Given the description of an element on the screen output the (x, y) to click on. 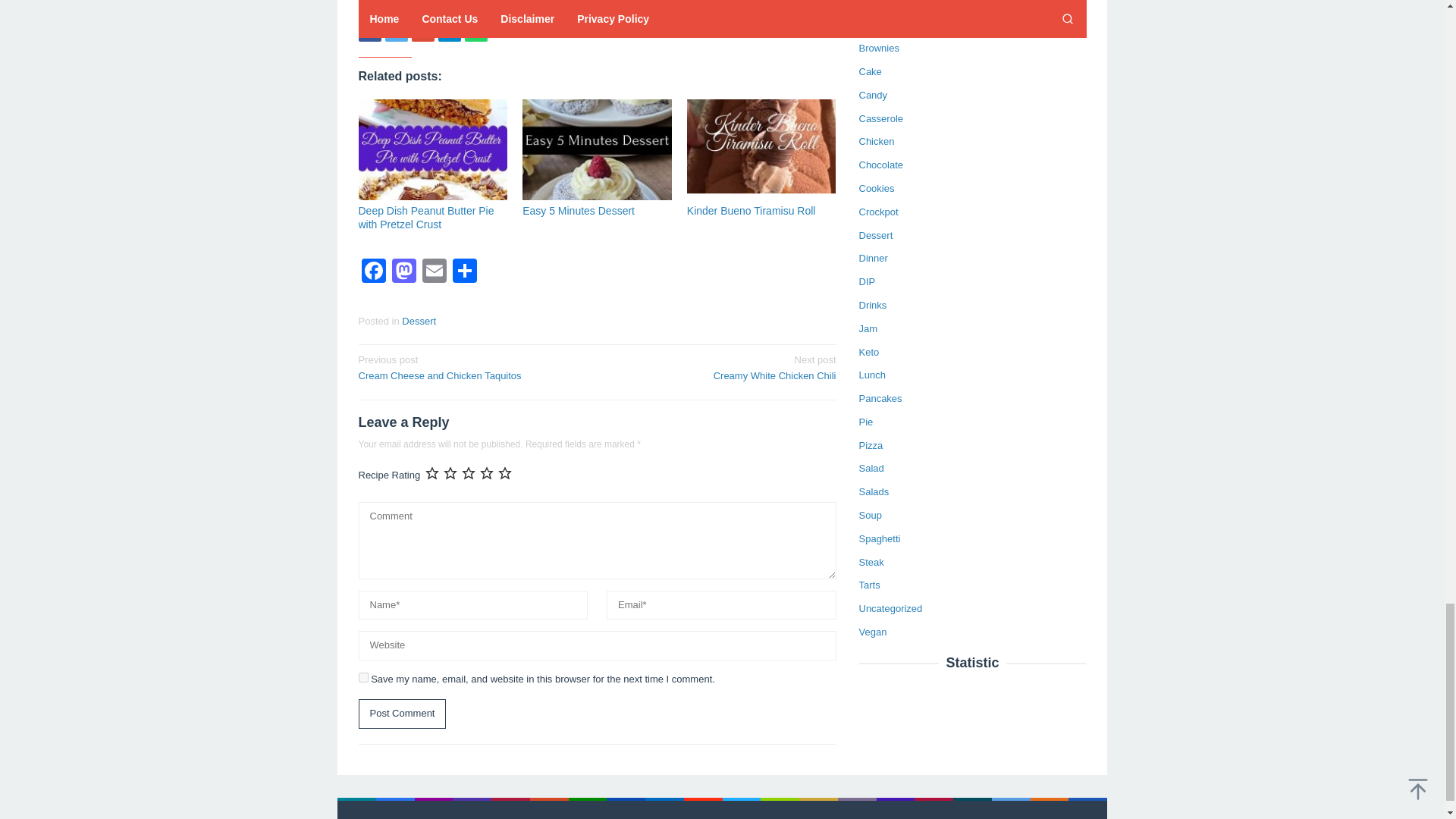
Facebook (721, 366)
Kinder Bueno Tiramisu Roll (373, 272)
Share this (751, 210)
Mastodon (369, 29)
Telegram Share (403, 272)
Post Comment (449, 29)
Post Comment (401, 713)
Dessert (401, 713)
